Given the description of an element on the screen output the (x, y) to click on. 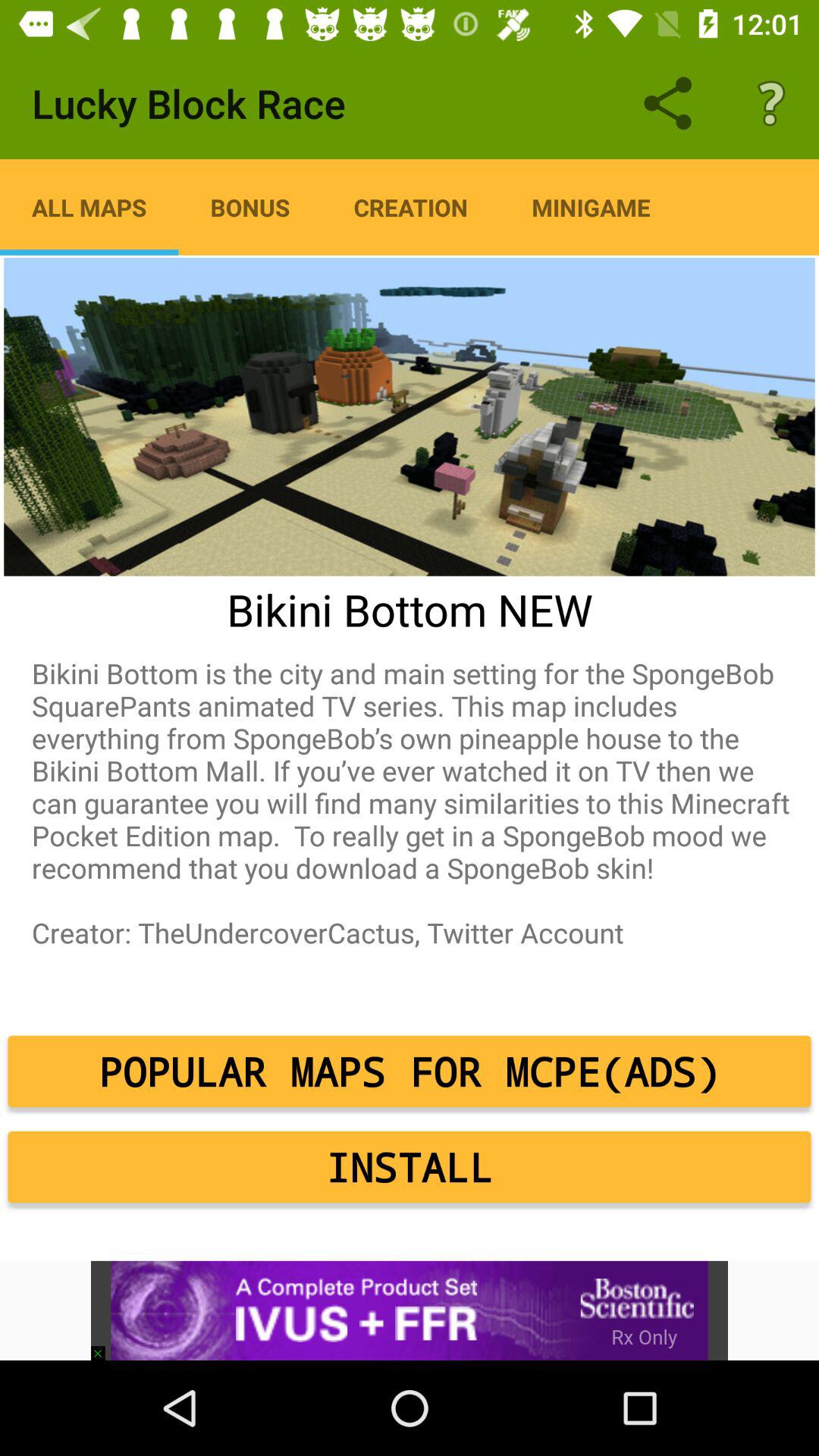
choose item next to bonus app (410, 207)
